Given the description of an element on the screen output the (x, y) to click on. 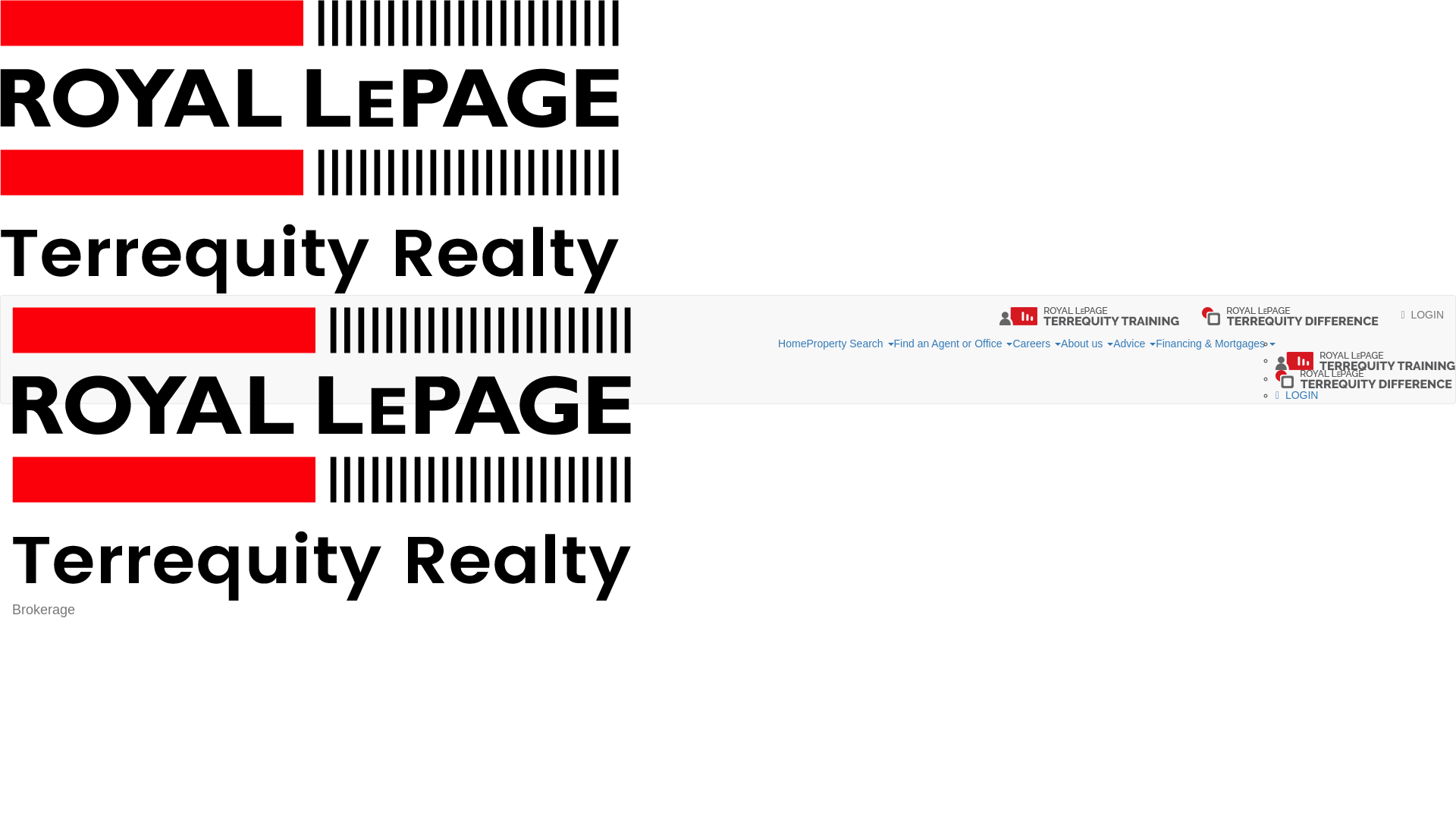
About us (1087, 344)
Advice (1134, 344)
Home (791, 344)
Brokerage (321, 314)
Find an Agent or Office (953, 344)
Careers (1036, 344)
  LOGIN (1422, 314)
Property Search (849, 344)
